Given the description of an element on the screen output the (x, y) to click on. 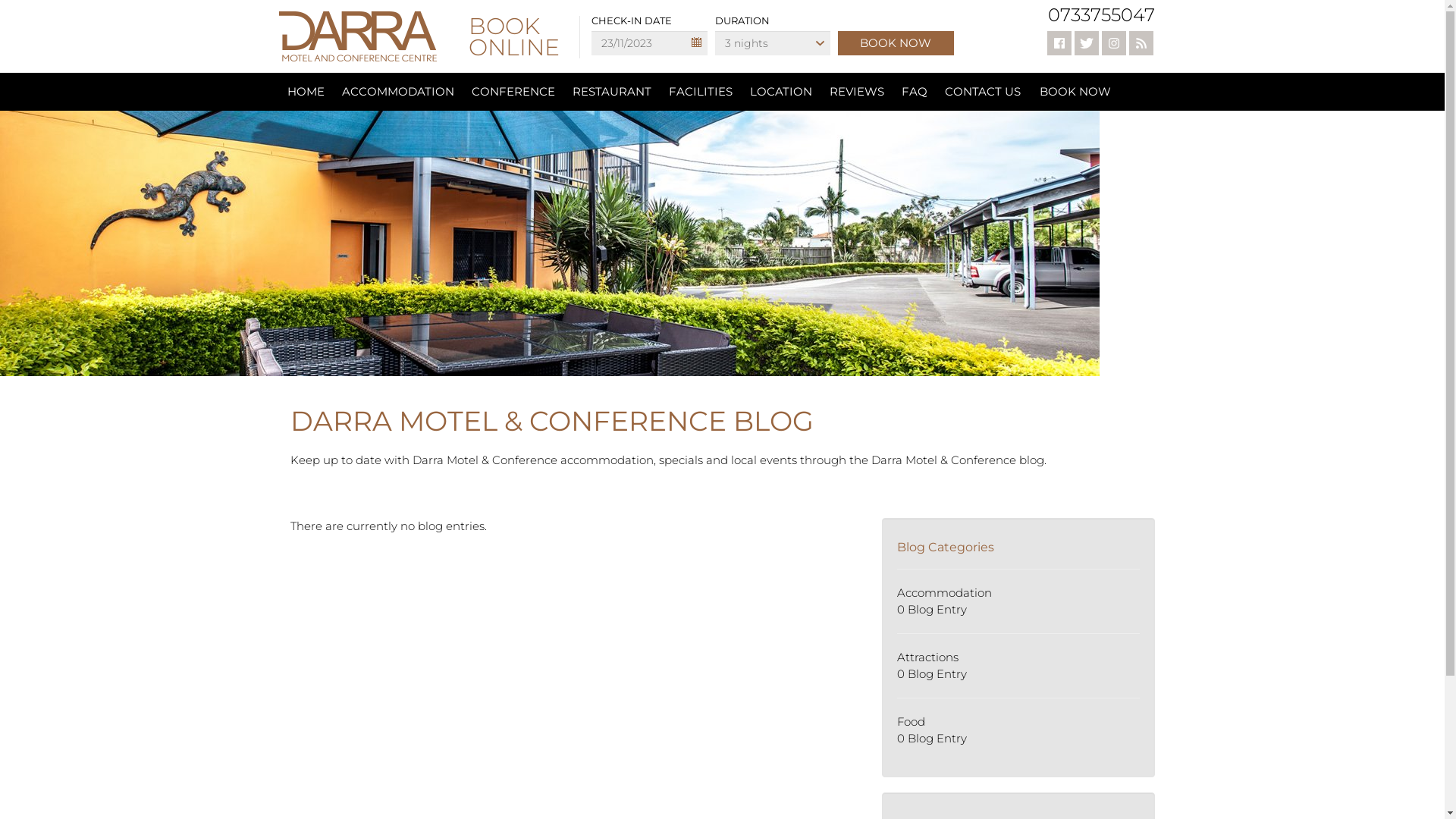
Food Element type: text (910, 721)
0733755047 Element type: text (1101, 14)
REVIEWS Element type: text (855, 91)
BOOK NOW Element type: text (1075, 91)
BOOK NOW Element type: text (895, 43)
Attractions Element type: text (926, 656)
CONTACT US Element type: text (981, 91)
Darra Motel Element type: hover (549, 243)
Accommodation Element type: text (943, 592)
FAQ Element type: text (914, 91)
FACILITIES Element type: text (699, 91)
CONFERENCE Element type: text (512, 91)
HOME Element type: text (305, 91)
LOCATION Element type: text (780, 91)
RESTAURANT Element type: text (611, 91)
... Element type: hover (696, 42)
ACCOMMODATION Element type: text (397, 91)
